Given the description of an element on the screen output the (x, y) to click on. 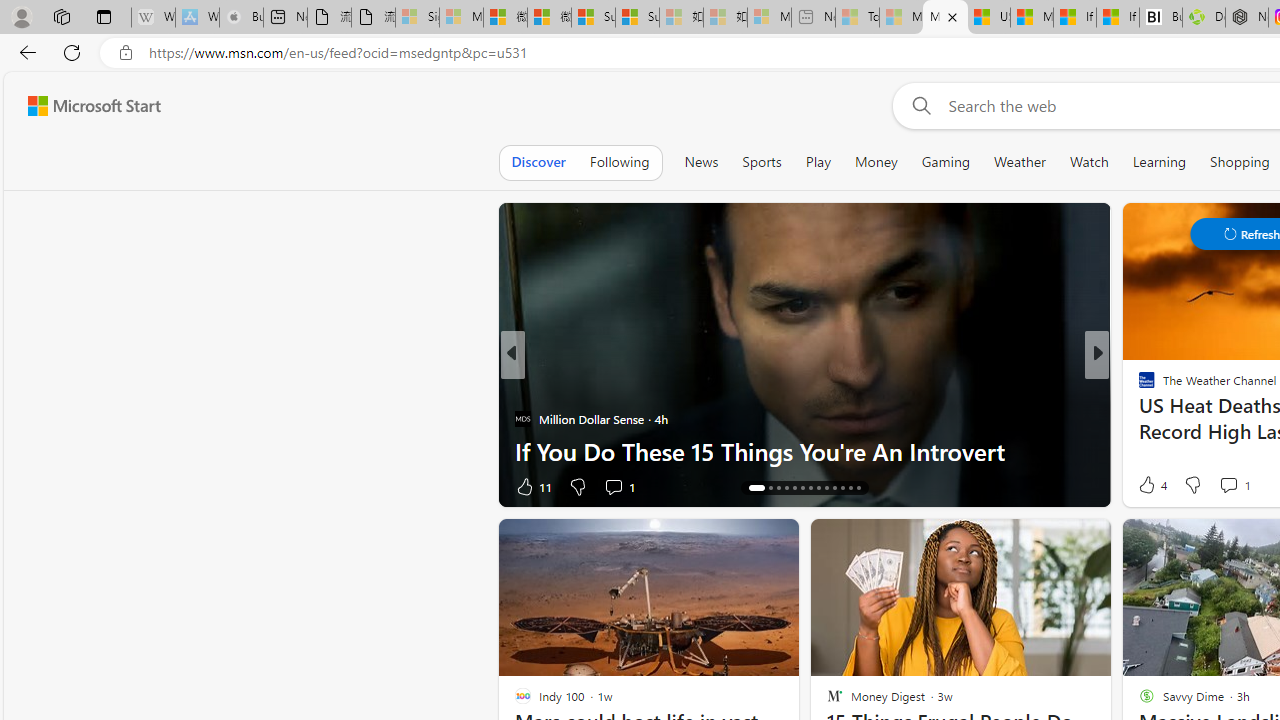
AutomationID: tab-24 (842, 487)
View comments 53 Comment (1244, 486)
Microsoft account | Account Checkup - Sleeping (769, 17)
A Conscious Rethink (1138, 386)
Marine life - MSN - Sleeping (900, 17)
View comments 1k Comment (1236, 486)
AutomationID: tab-25 (850, 487)
View comments 11 Comment (1244, 486)
Buy iPad - Apple - Sleeping (241, 17)
